Given the description of an element on the screen output the (x, y) to click on. 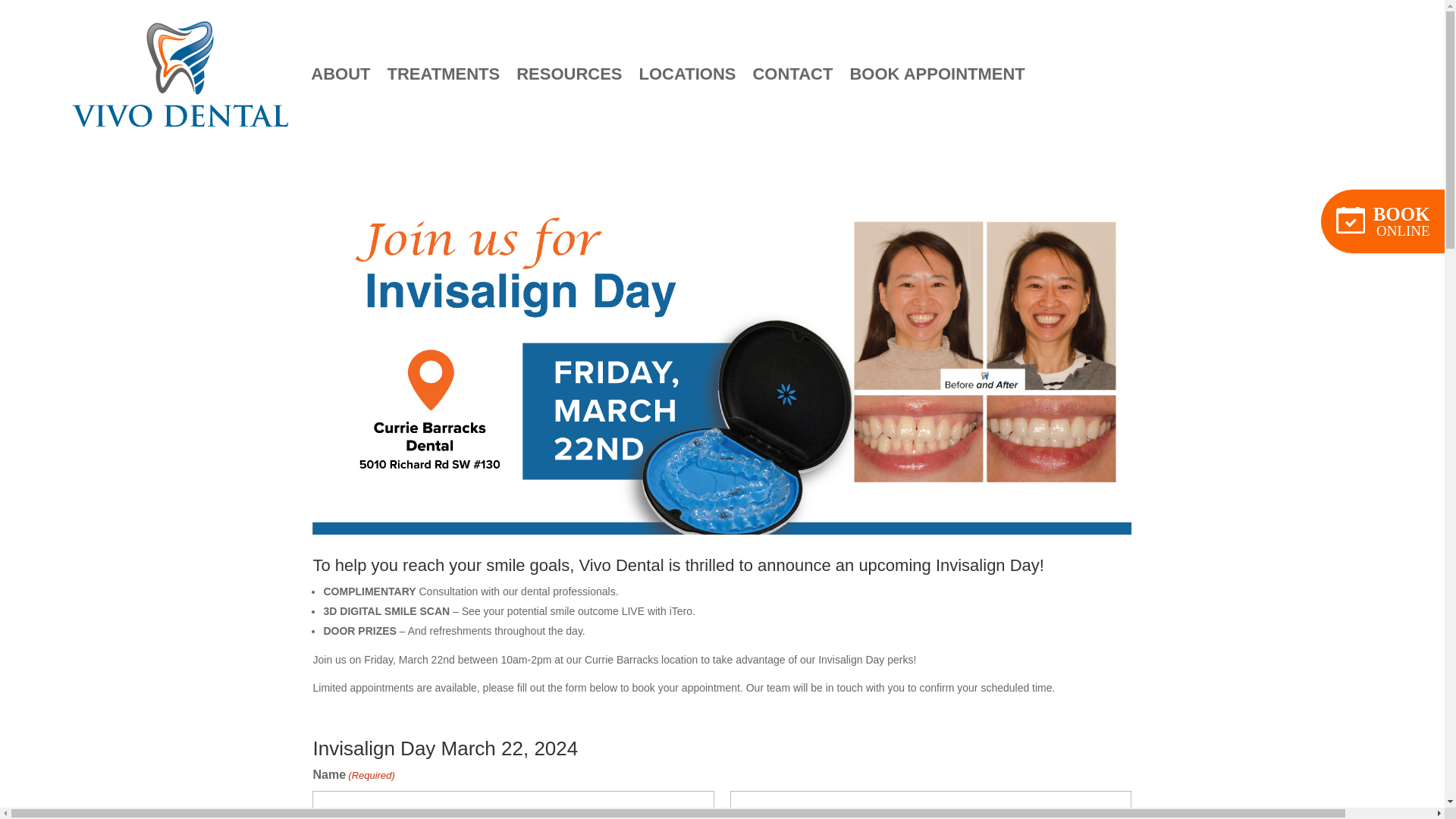
ABOUT (340, 72)
BOOK APPOINTMENT (936, 72)
TREATMENTS (443, 72)
CONTACT (792, 72)
RESOURCES (568, 72)
LOCATIONS (687, 72)
